Given the description of an element on the screen output the (x, y) to click on. 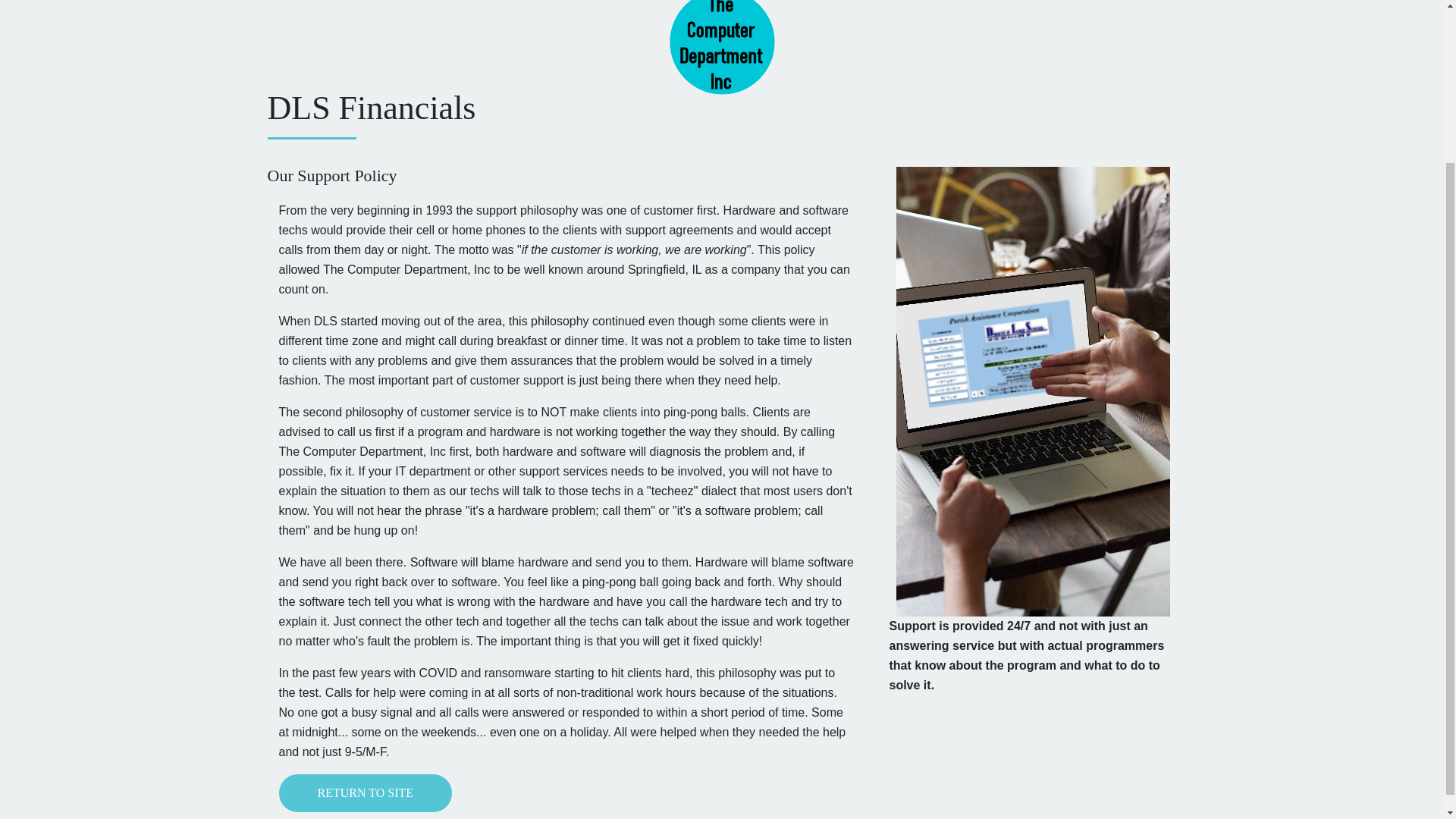
RETURN TO SITE (365, 792)
